Given the description of an element on the screen output the (x, y) to click on. 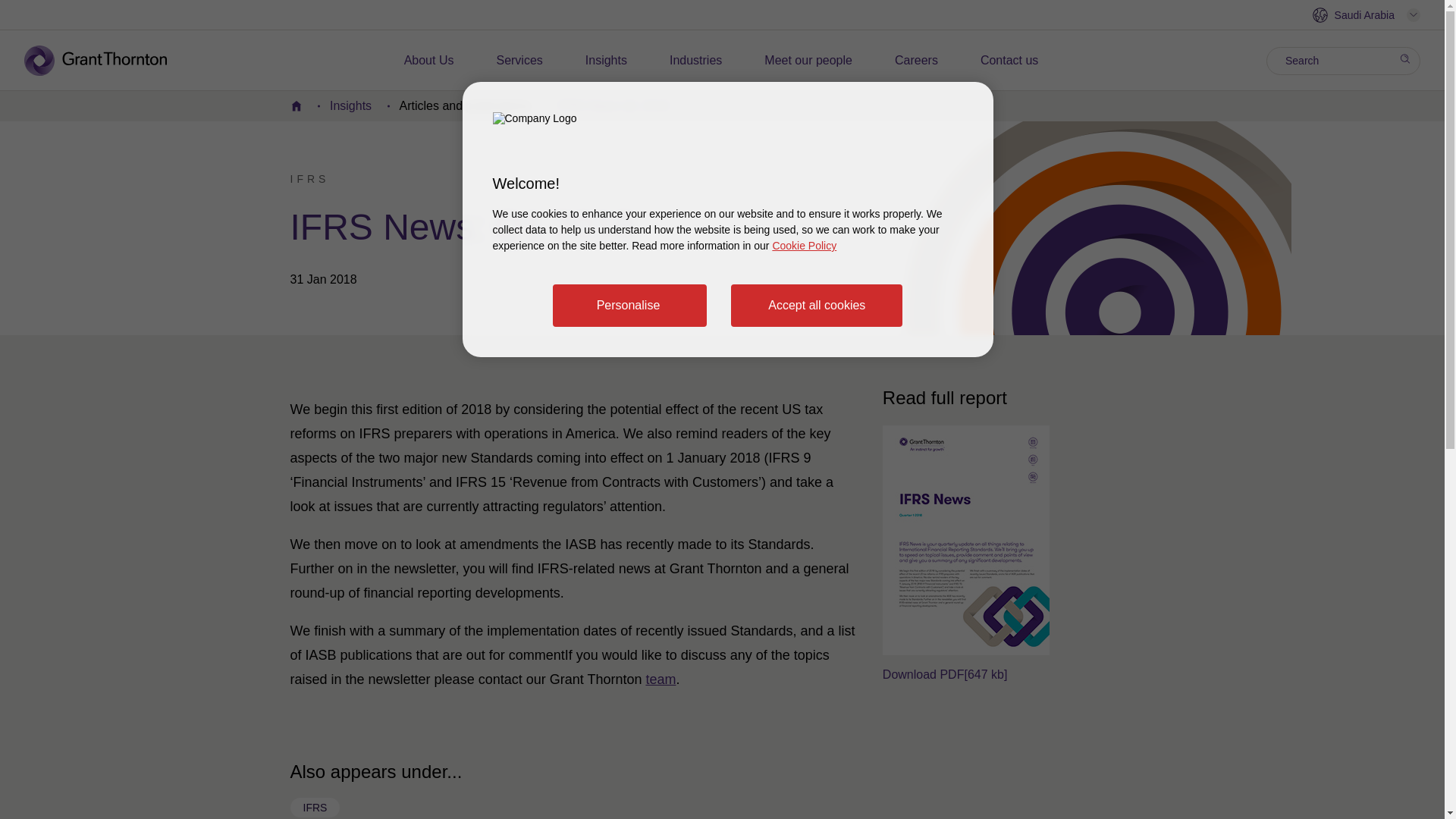
Careers (916, 60)
Explore the Grant Thornton network (1366, 14)
Contact us (1008, 60)
Industries (695, 60)
Insights (606, 60)
Meet our people (807, 60)
Services (518, 60)
logo (105, 60)
Saudi Arabia (1366, 14)
About Us (429, 60)
